Given the description of an element on the screen output the (x, y) to click on. 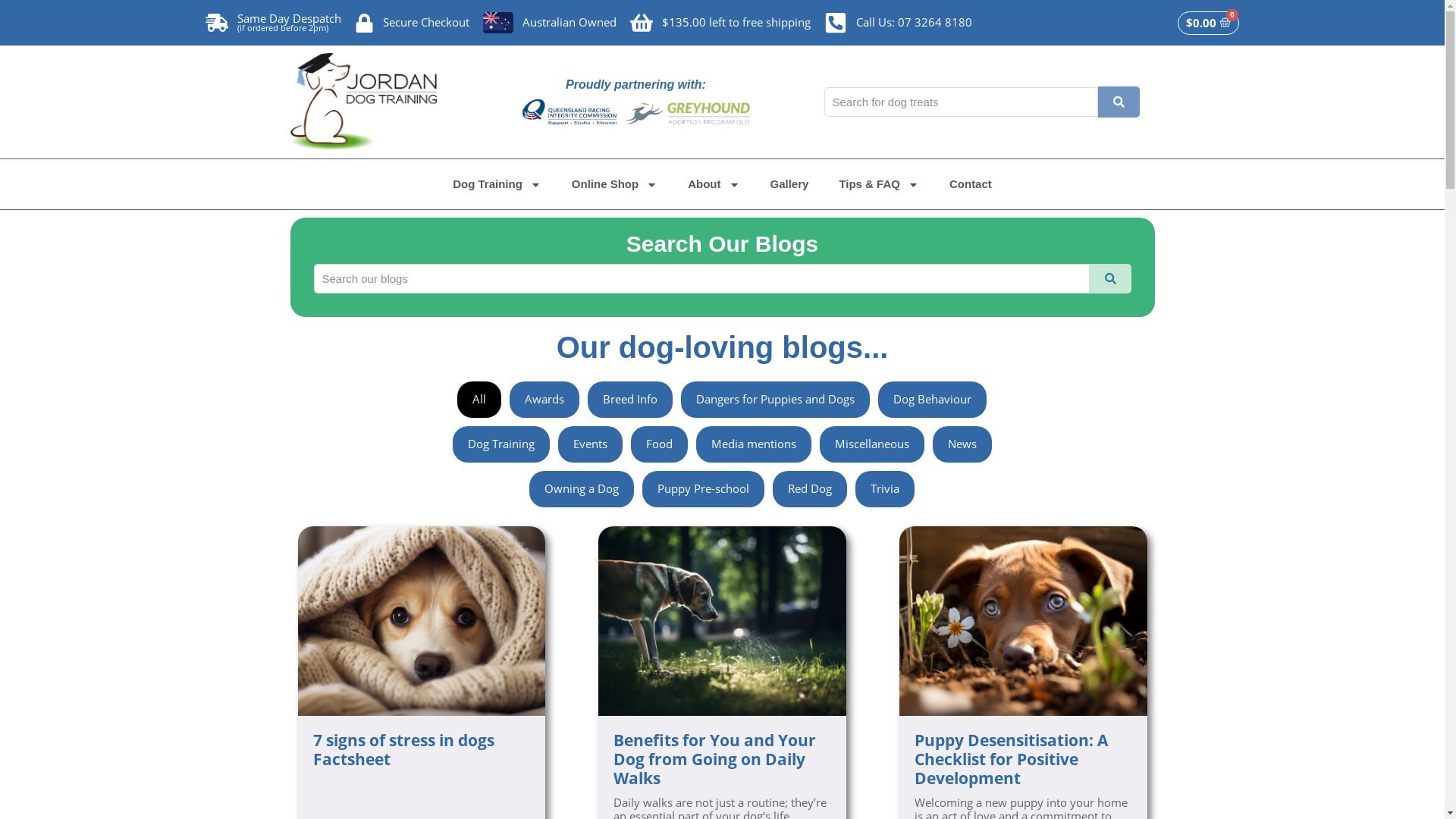
Breed Info Element type: text (629, 399)
Trivia Element type: text (884, 488)
Benefits for You and Your Dog from Going on Daily Walks Element type: text (722, 759)
Contact Element type: text (970, 183)
Dog Training Element type: text (500, 444)
Events Element type: text (590, 444)
$0.00
0 Element type: text (1208, 22)
Miscellaneous Element type: text (871, 444)
About Element type: text (713, 183)
Food Element type: text (658, 444)
Awards Element type: text (544, 399)
Owning a Dog Element type: text (581, 488)
Online Shop Element type: text (614, 183)
Dog Training Element type: text (496, 183)
7 signs of stress in dogs Factsheet Element type: text (421, 749)
Puppy Pre-school Element type: text (703, 488)
Call Us: 07 3264 8180 Element type: text (898, 22)
All Element type: text (479, 399)
Puppy Desensitisation: A Checklist for Positive Development Element type: text (1023, 759)
Tips & FAQ Element type: text (878, 183)
Gallery Element type: text (789, 183)
Dog Behaviour Element type: text (932, 399)
Red Dog Element type: text (809, 488)
News Element type: text (961, 444)
Media mentions Element type: text (753, 444)
Dangers for Puppies and Dogs Element type: text (774, 399)
